Given the description of an element on the screen output the (x, y) to click on. 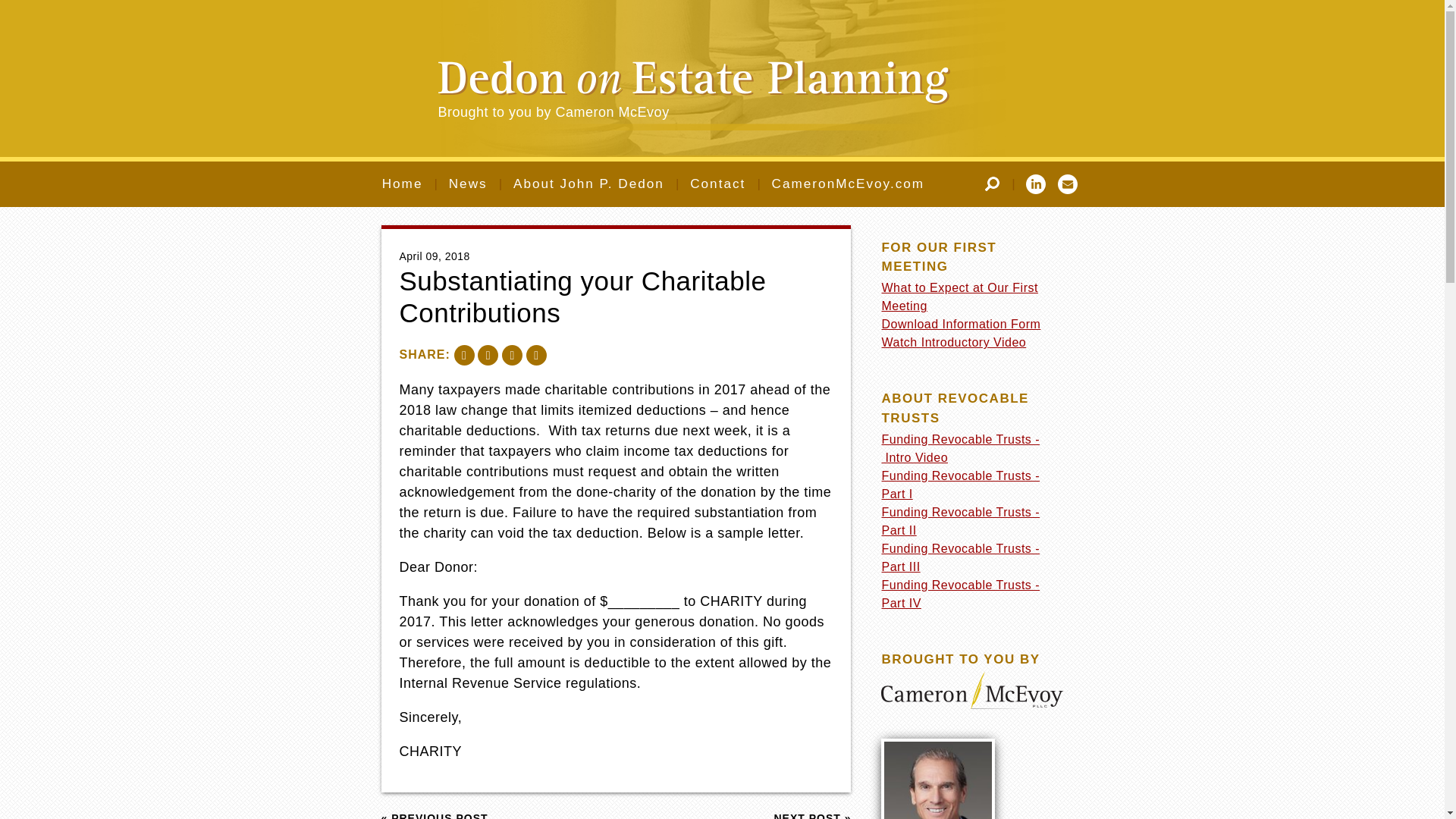
Funding Revocable Trusts - Part II (959, 521)
Tweet This Post (487, 354)
Watch Introductory Video (953, 341)
Email Share (512, 354)
News (467, 184)
About John P. Dedon (588, 184)
What to Expect at Our First Meeting (958, 296)
Contact (717, 184)
CameronMcEvoy.com (847, 184)
Share on Facebook (464, 354)
Search (992, 184)
Download Information Form (960, 323)
Funding Revocable Trusts - Part I (959, 484)
Funding Revocable Trusts - Part III (959, 557)
Print Article (536, 354)
